Given the description of an element on the screen output the (x, y) to click on. 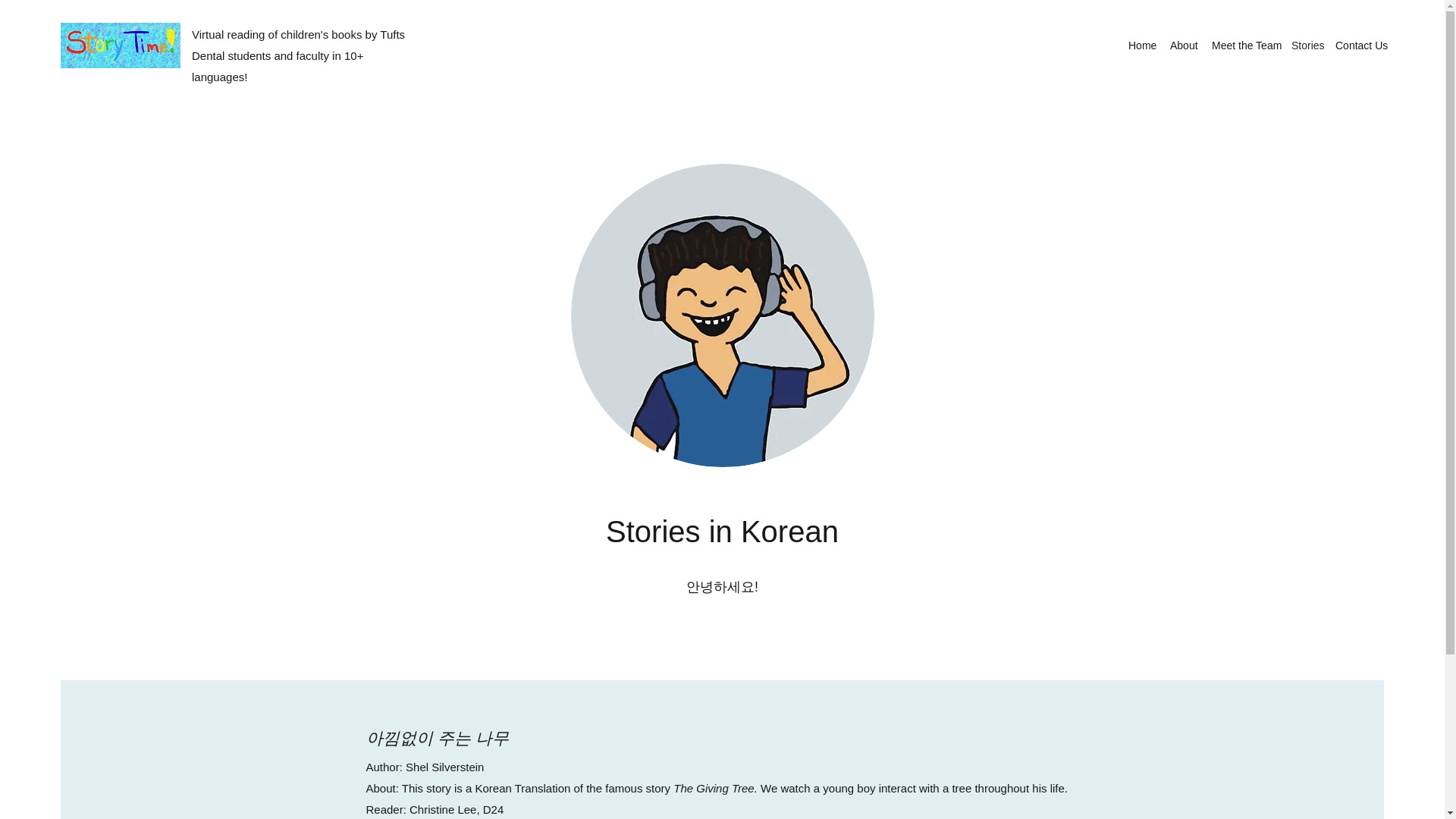
Stories (1305, 45)
Contact Us (1359, 45)
Meet the Team (1244, 45)
About (1182, 45)
Home (1141, 45)
